Given the description of an element on the screen output the (x, y) to click on. 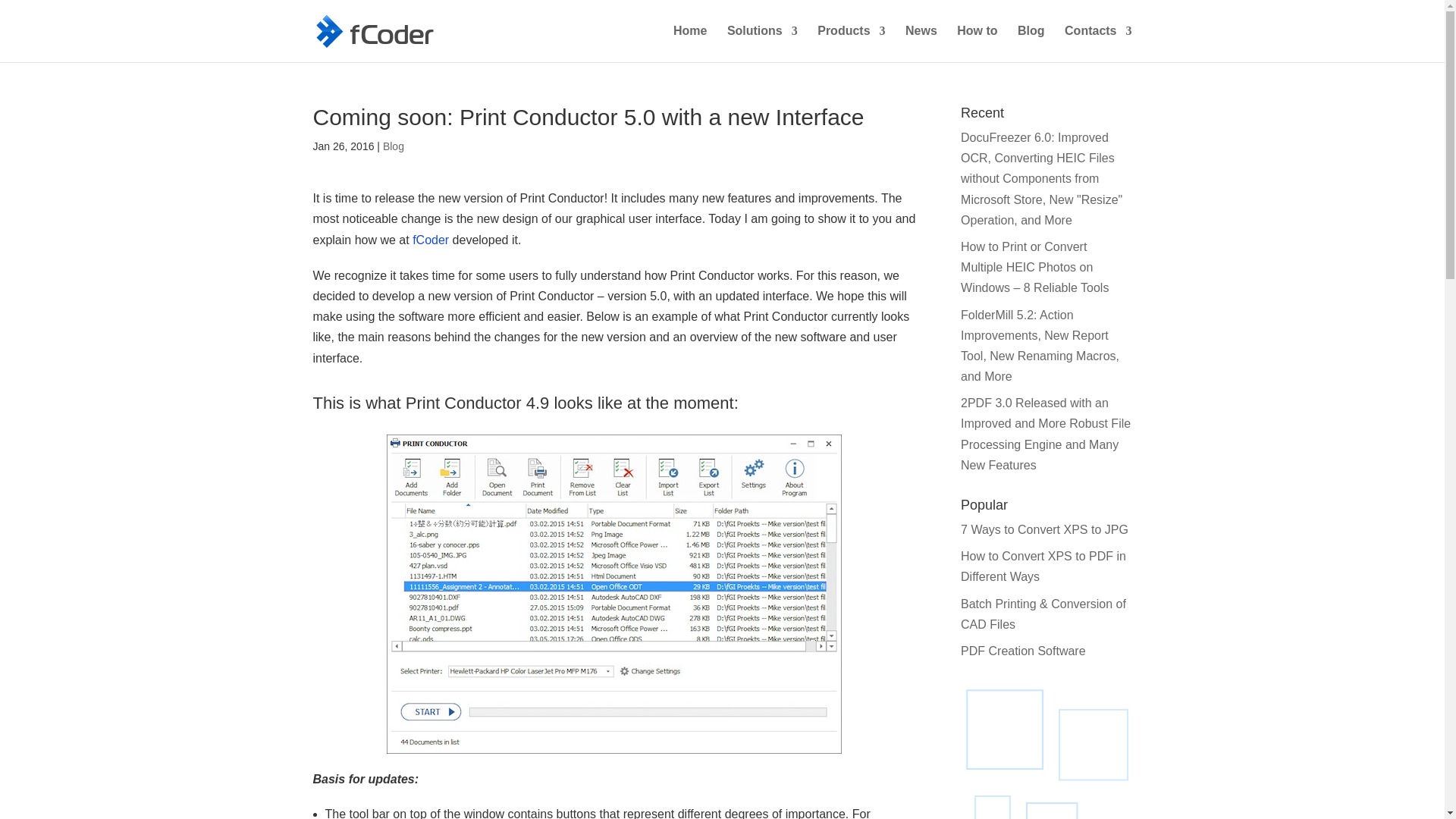
Solutions (761, 43)
Contacts (1097, 43)
Products (850, 43)
Home (689, 43)
How to (976, 43)
